Given the description of an element on the screen output the (x, y) to click on. 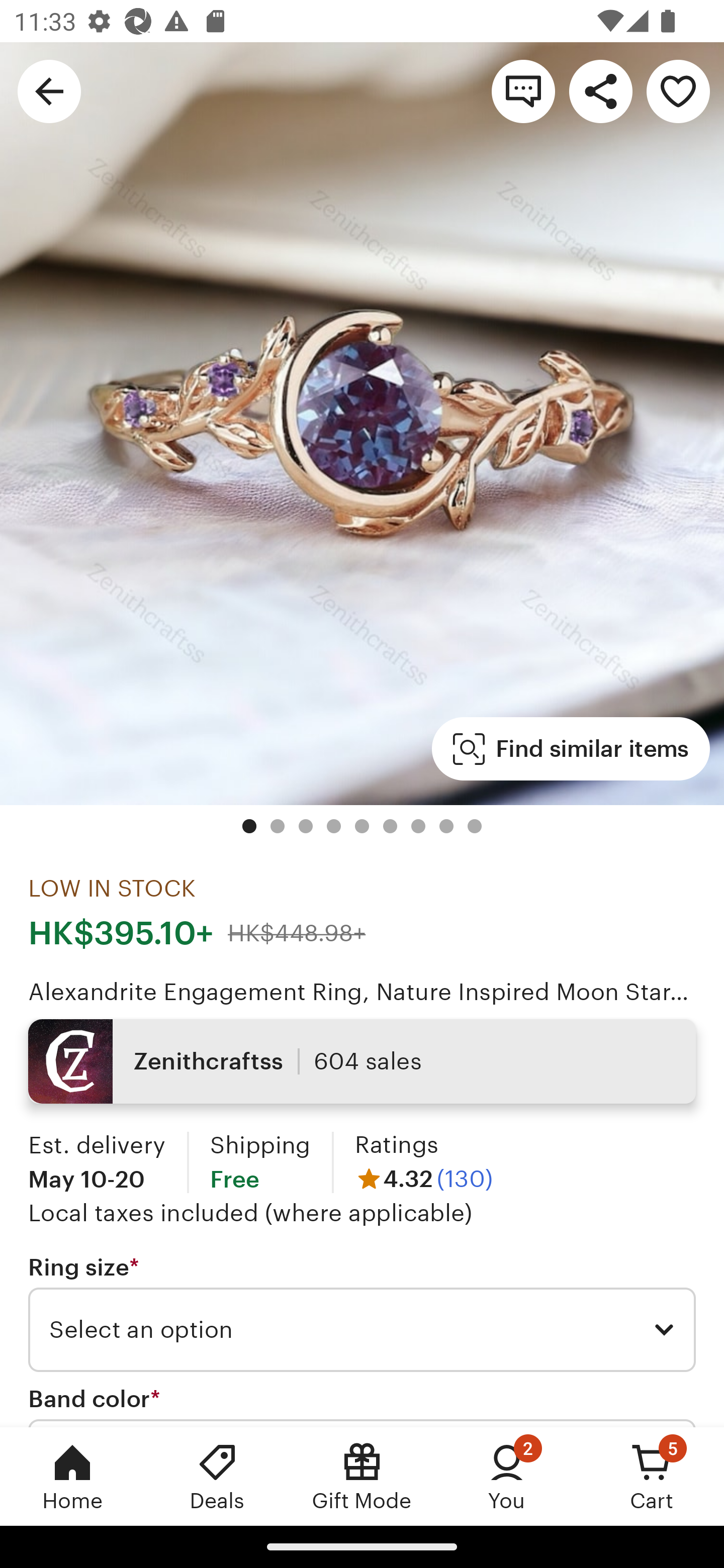
Navigate up (49, 90)
Contact shop (523, 90)
Share (600, 90)
Find similar items (571, 748)
Zenithcraftss 604 sales (361, 1061)
Ratings (396, 1144)
4.32 (130) (423, 1179)
Ring size * Required Select an option (361, 1313)
Select an option (361, 1329)
Band color * Required Select an option (361, 1406)
Deals (216, 1475)
Gift Mode (361, 1475)
You, 2 new notifications You (506, 1475)
Cart, 5 new notifications Cart (651, 1475)
